Given the description of an element on the screen output the (x, y) to click on. 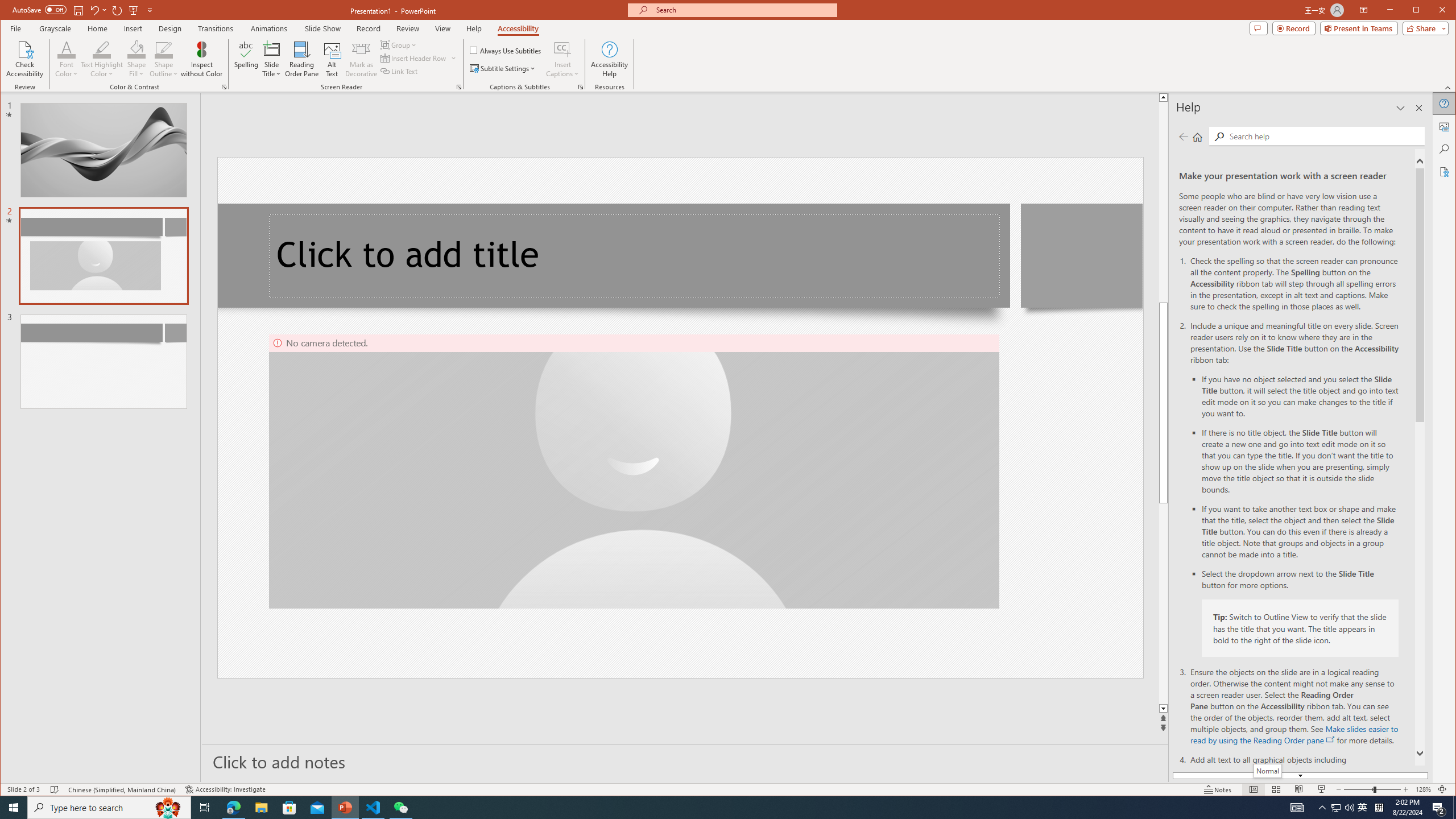
Notes  (1217, 789)
Page up (1162, 201)
Customize Quick Access Toolbar (150, 9)
Start (13, 807)
Insert (133, 28)
Task View (204, 807)
Slide Title (271, 48)
Type here to search (108, 807)
Accessibility Checker Accessibility: Investigate (225, 789)
Ribbon Display Options (1364, 9)
Visual Studio Code - 1 running window (373, 807)
Mark as Decorative (360, 59)
